Given the description of an element on the screen output the (x, y) to click on. 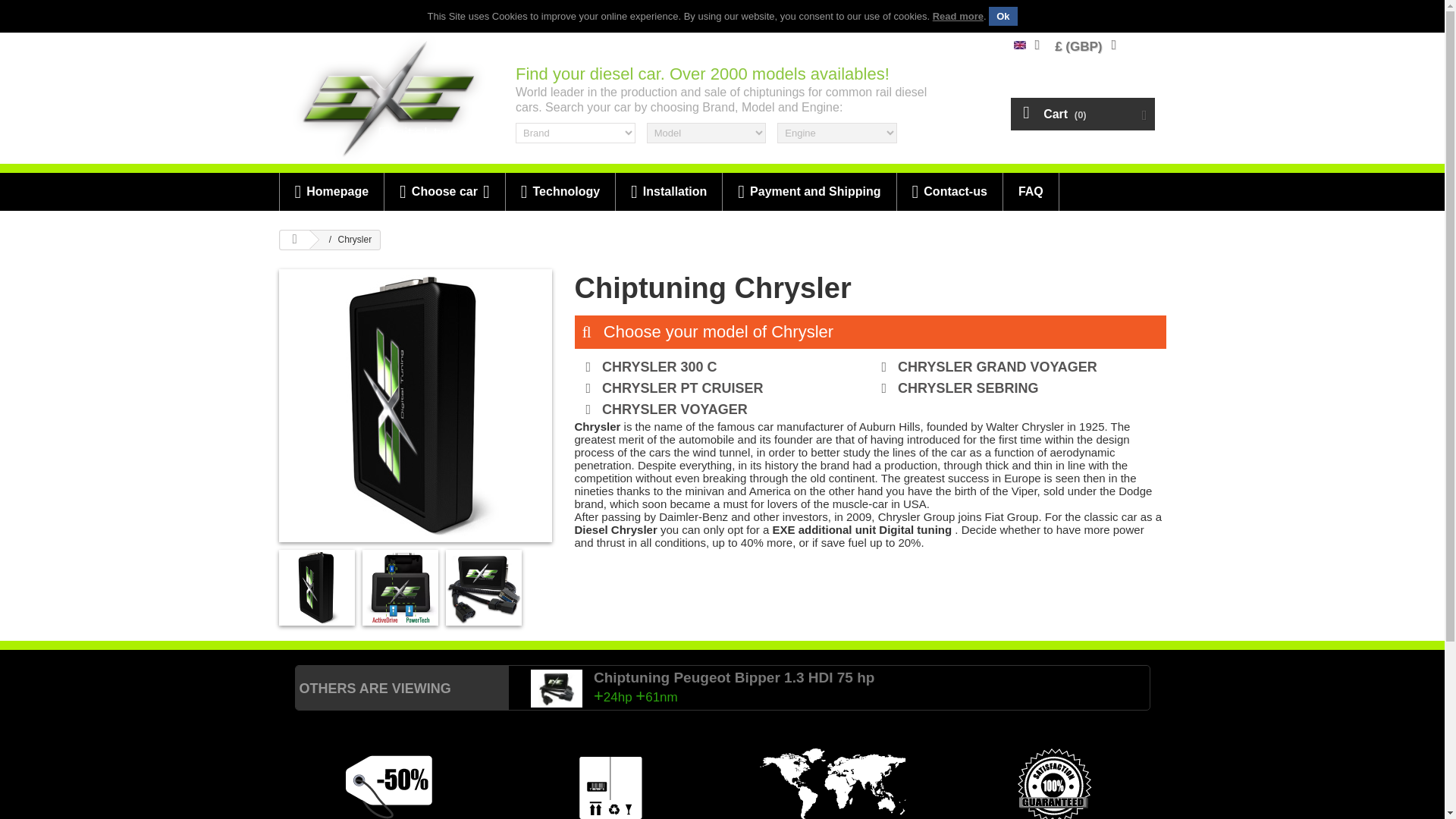
Exe Digital Tuning (389, 97)
Chiptuning (1019, 44)
Choose car (444, 191)
Login (1145, 44)
Homepage (331, 191)
Log in to your customer account (1145, 44)
Read more (958, 16)
